Given the description of an element on the screen output the (x, y) to click on. 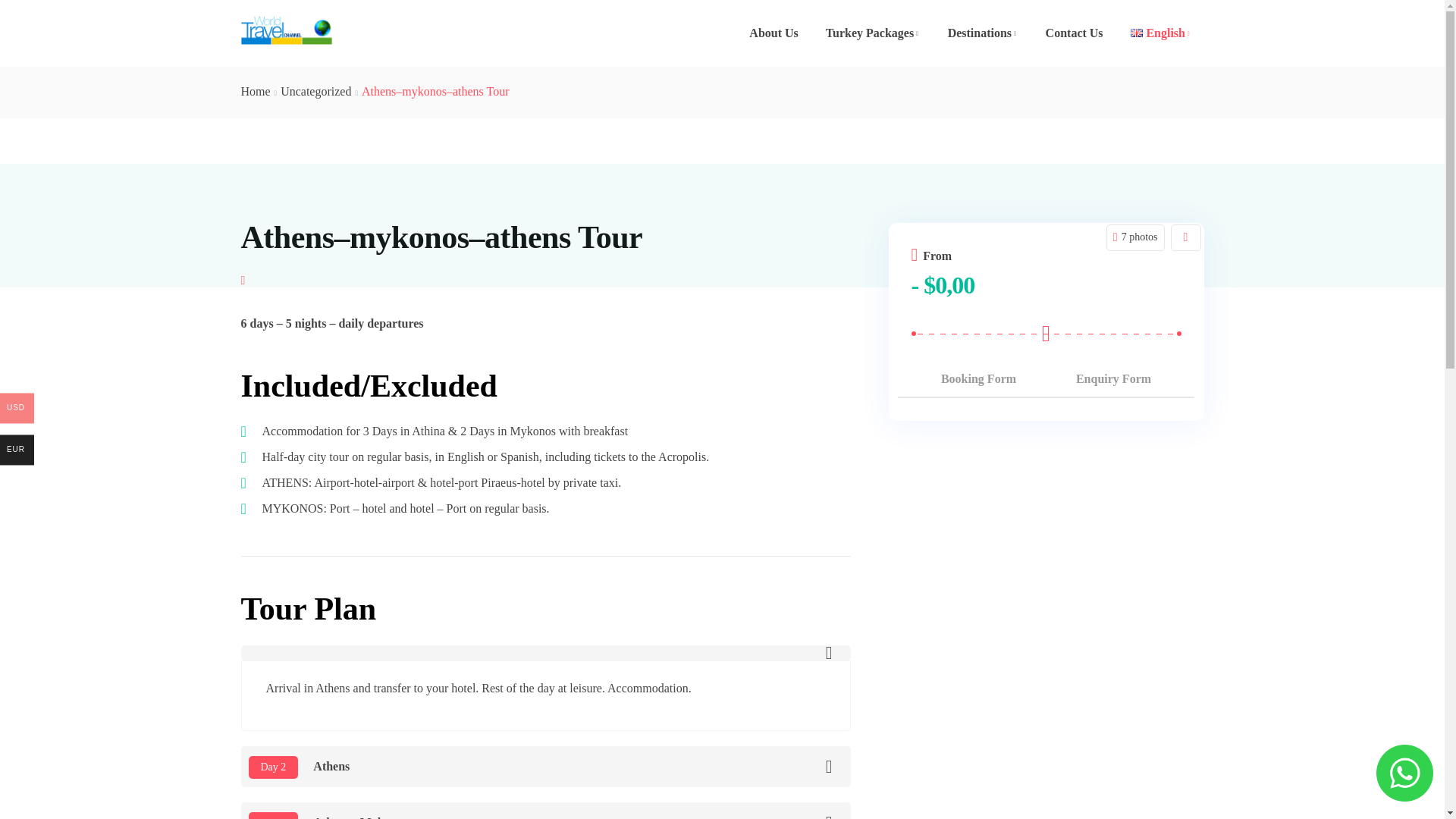
Destinations (983, 33)
Turkey Packages (873, 33)
About Us (772, 33)
